Given the description of an element on the screen output the (x, y) to click on. 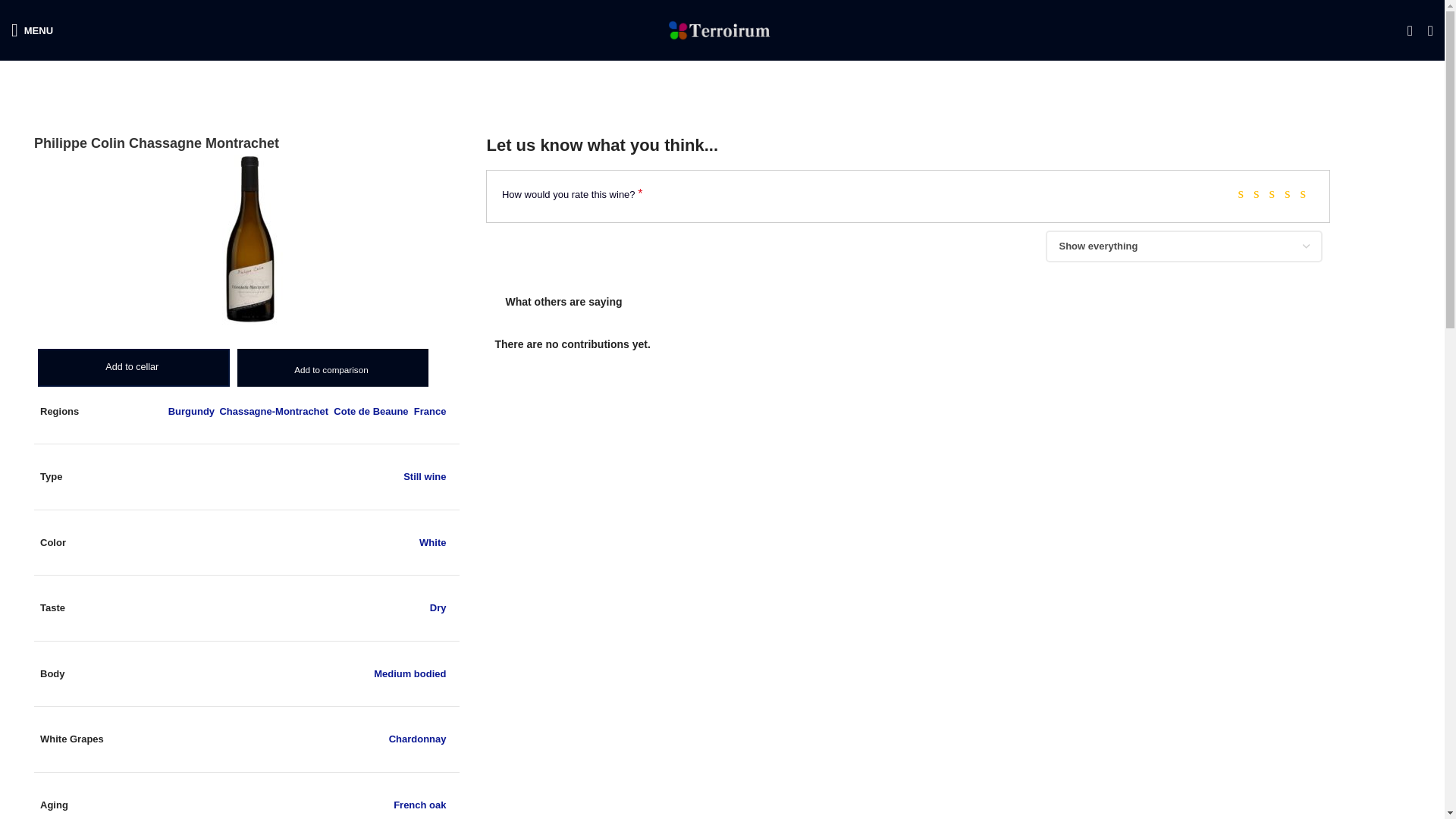
France (429, 410)
French oak (419, 804)
Chassagne-Montrachet (274, 410)
Medium bodied (409, 673)
Philippe Colin Chassagne Montrachet Blanc (250, 240)
Chardonnay (417, 738)
Add to comparison (331, 369)
White (432, 542)
MENU (32, 30)
Burgundy (191, 410)
Cote de Beaune (370, 410)
Still wine (424, 476)
Dry (437, 607)
Add to cellar (133, 356)
